Given the description of an element on the screen output the (x, y) to click on. 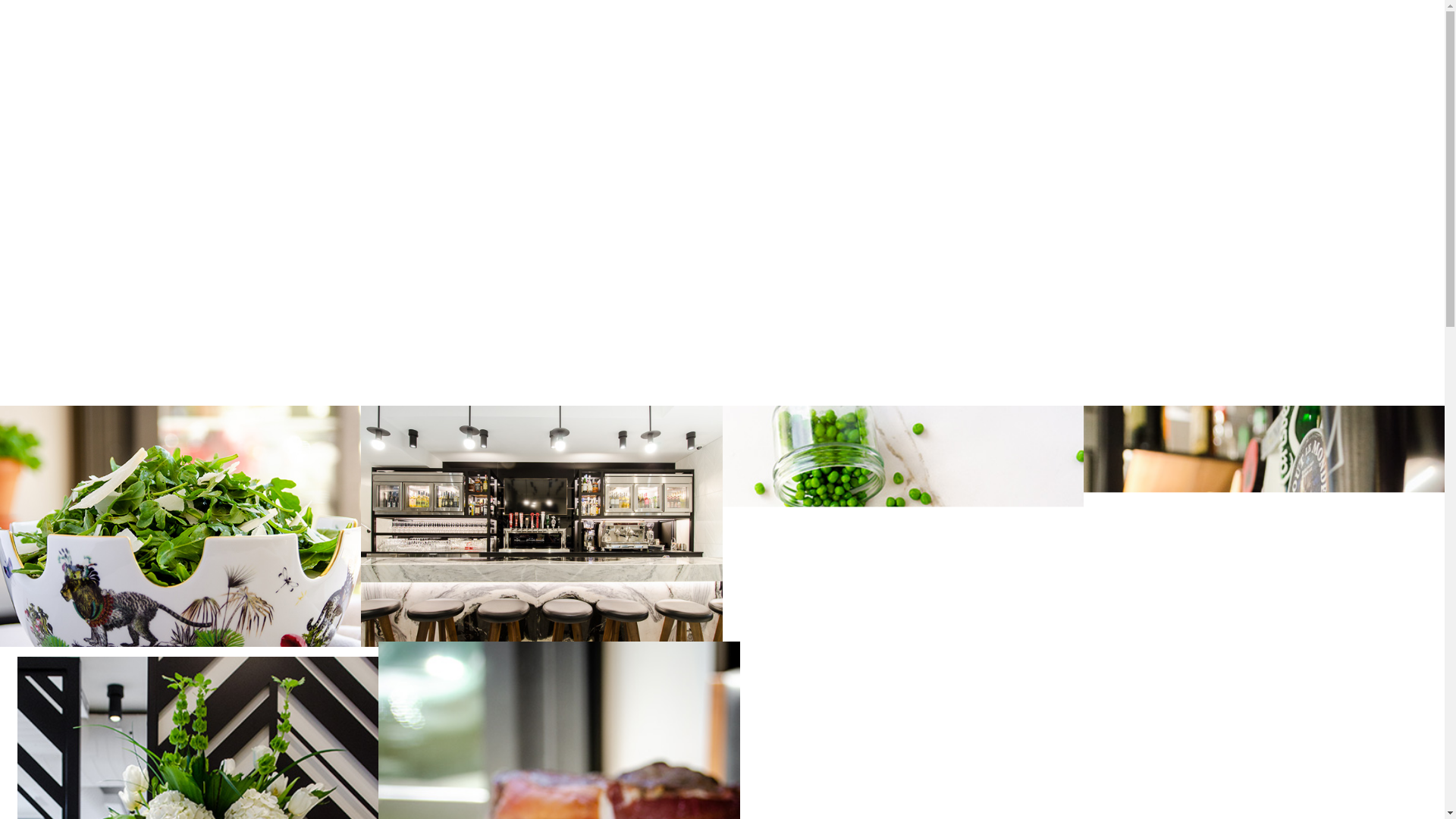
FR Element type: text (7, 155)
Order Online Element type: text (32, 380)
About Element type: text (15, 79)
FR Element type: text (7, 365)
Photo gallery Element type: text (31, 304)
FR Element type: text (7, 349)
Gift card Element type: text (21, 319)
About Element type: text (15, 274)
Reserve your table Element type: text (112, 186)
Contact Element type: text (19, 140)
Menus Element type: text (15, 289)
FR Element type: text (7, 170)
Photo gallery Element type: text (31, 110)
Reserve your table Element type: text (112, 380)
Order Online Element type: text (32, 186)
Contact Element type: text (19, 334)
Gift card Element type: text (21, 125)
Menus Element type: text (15, 95)
